Given the description of an element on the screen output the (x, y) to click on. 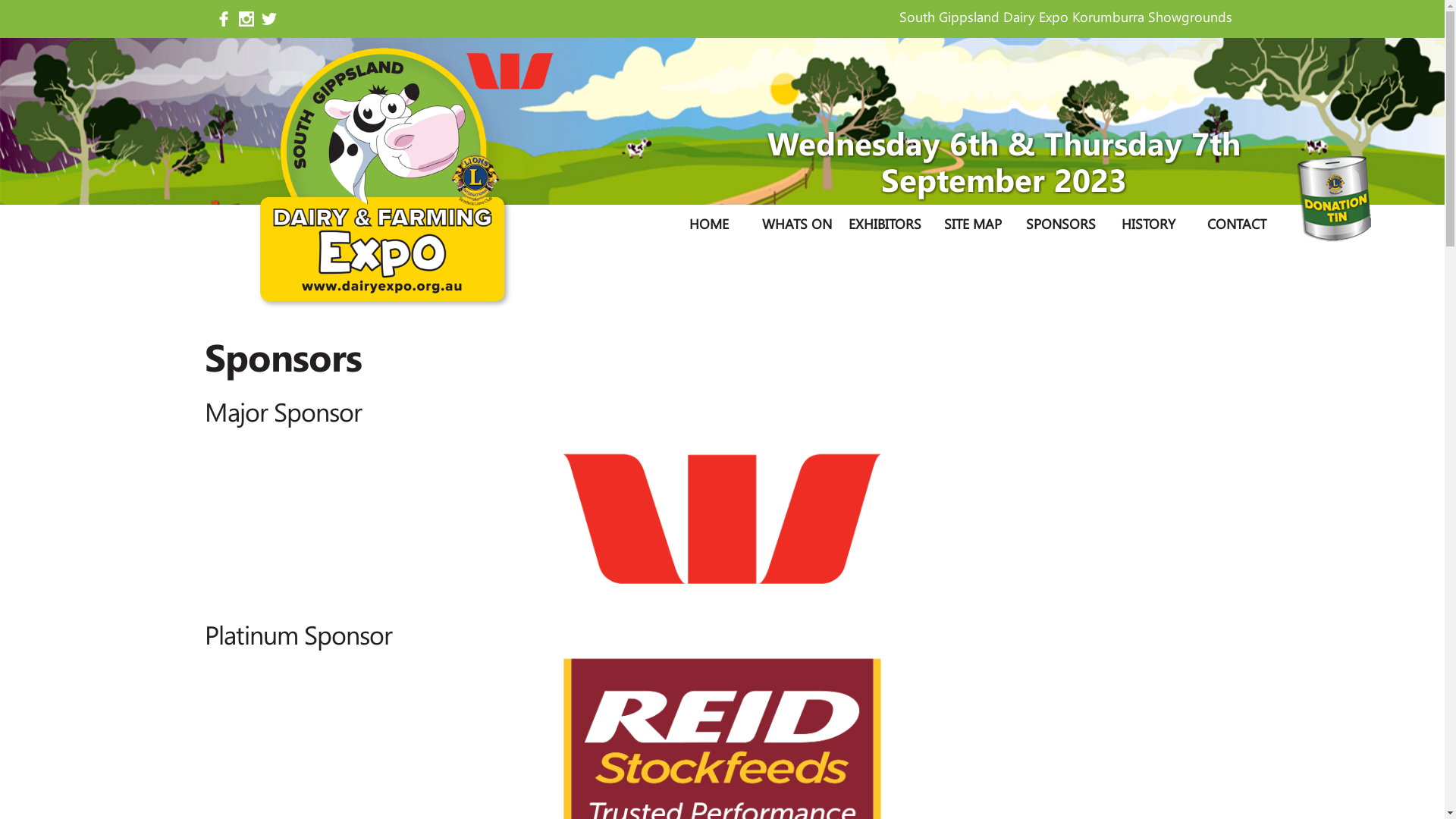
SPONSORS Element type: text (1060, 223)
HOME Element type: text (709, 223)
EXHIBITORS Element type: text (884, 223)
CONTACT Element type: text (1236, 223)
HISTORY Element type: text (1148, 223)
WHATS ON Element type: text (796, 223)
SITE MAP Element type: text (972, 223)
